Given the description of an element on the screen output the (x, y) to click on. 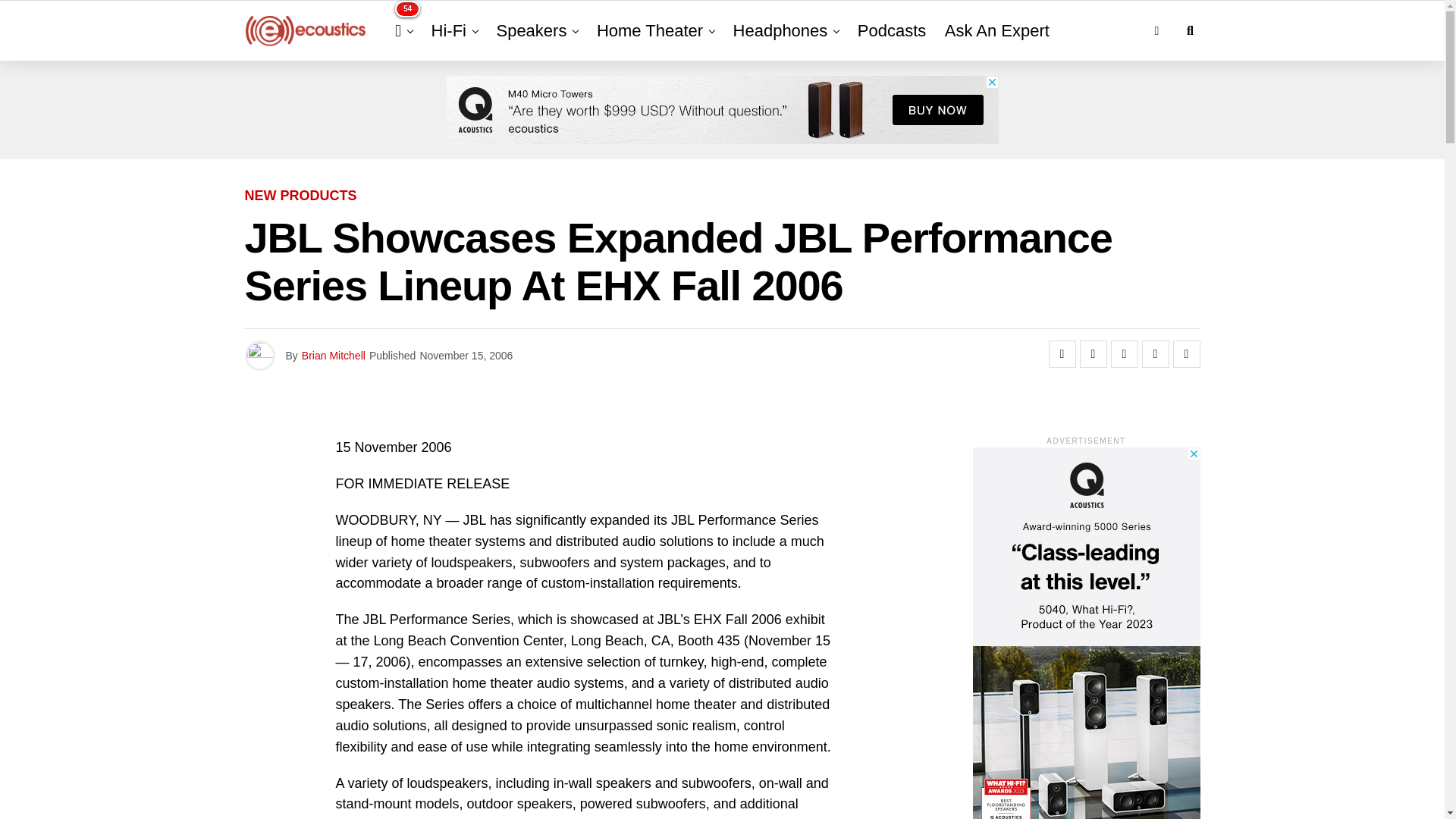
3rd party ad content (721, 110)
Tweet This Post (1093, 353)
Share on Facebook (1061, 353)
Posts by Brian Mitchell (333, 355)
